Given the description of an element on the screen output the (x, y) to click on. 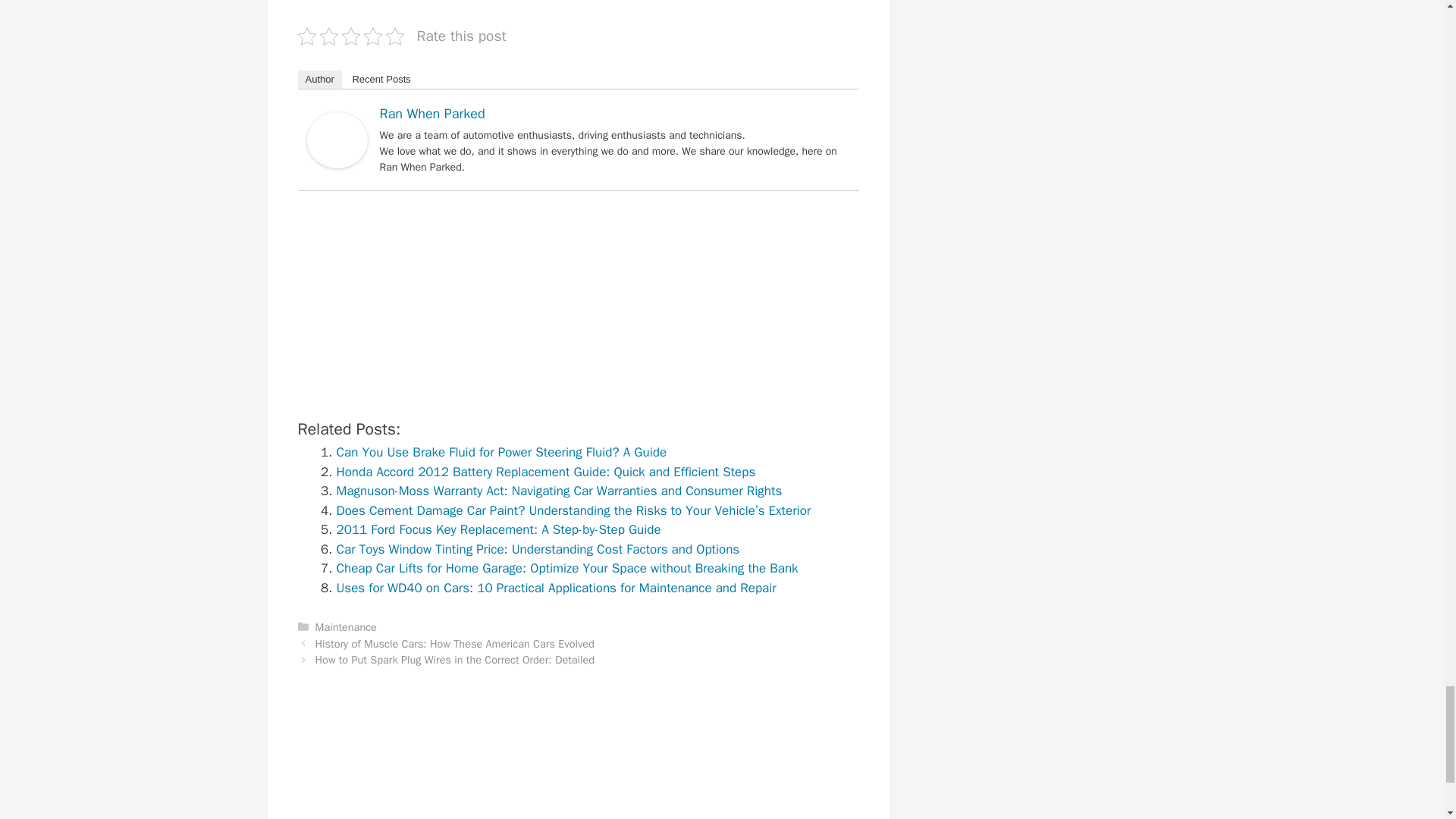
Can You Use Brake Fluid for Power Steering Fluid? A Guide (501, 452)
2011 Ford Focus Key Replacement: A Step-by-Step Guide (498, 529)
Ran When Parked (335, 163)
